Given the description of an element on the screen output the (x, y) to click on. 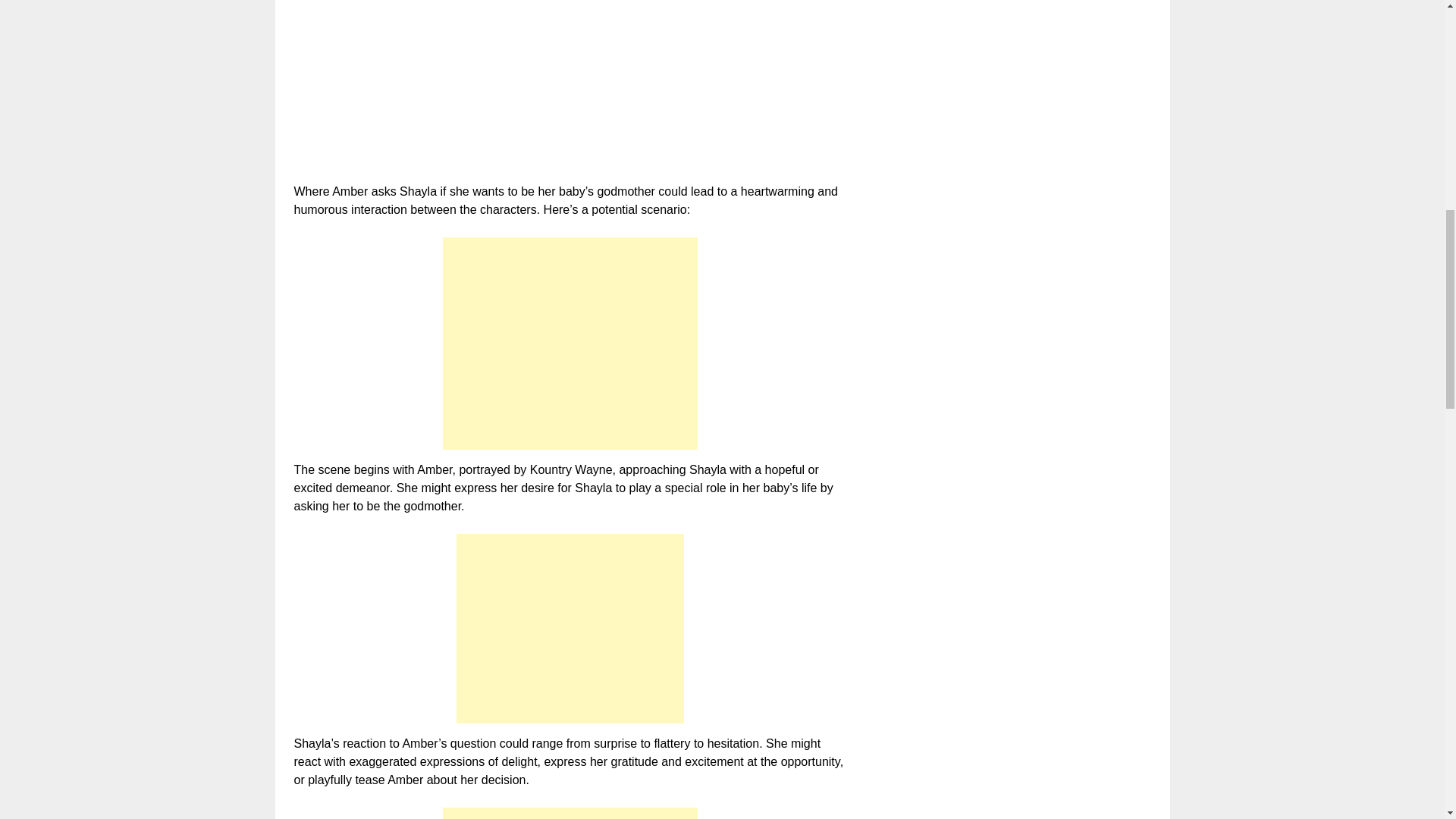
Advertisement (569, 343)
Advertisement (569, 813)
Advertisement (570, 628)
